Given the description of an element on the screen output the (x, y) to click on. 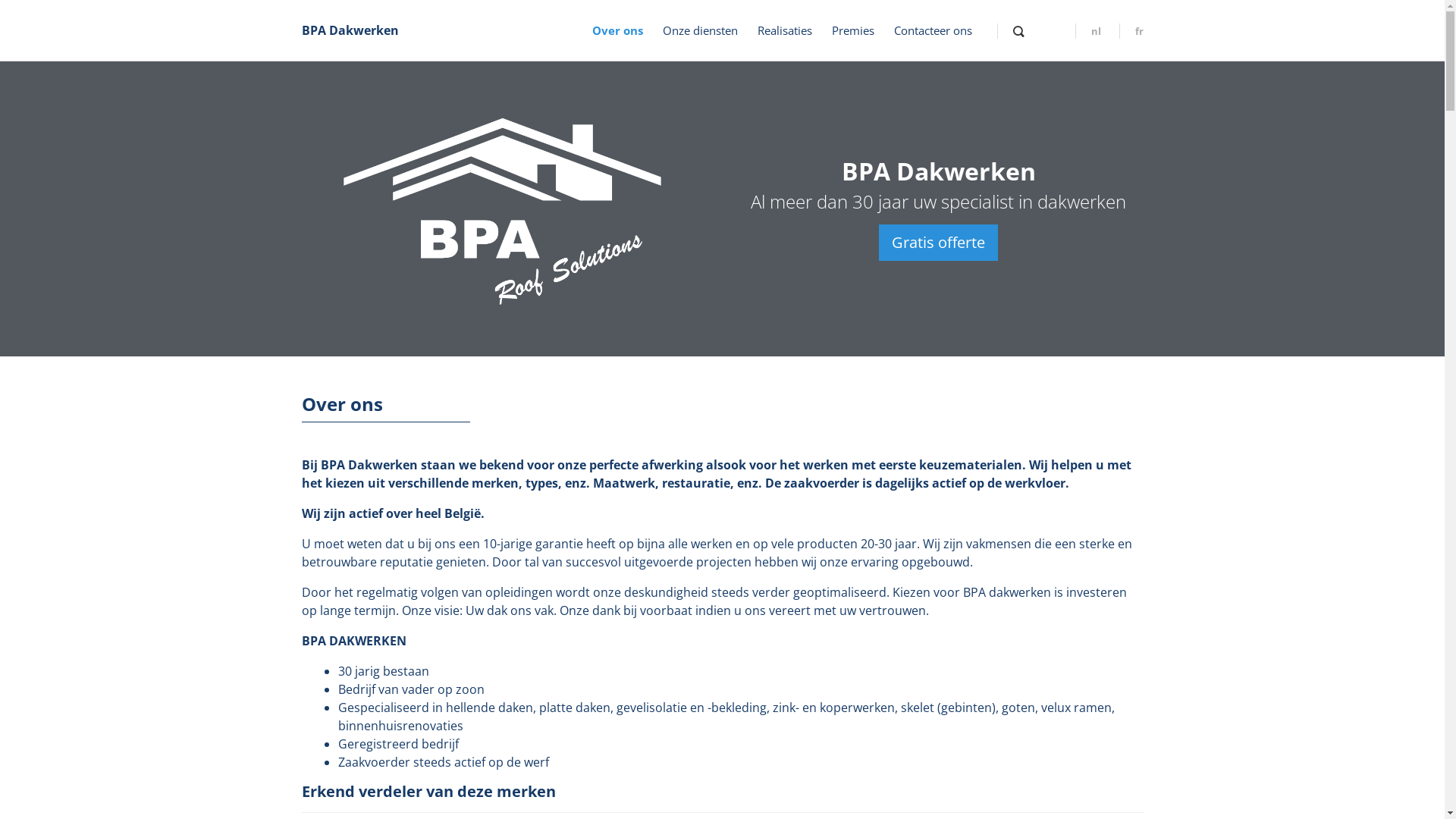
Realisaties Element type: text (783, 30)
Premies Element type: text (852, 30)
Onze diensten Element type: text (699, 30)
BPA Dakwerken Element type: text (349, 30)
nl Element type: text (1088, 30)
Over ons Element type: text (616, 30)
Gratis offerte Element type: text (937, 242)
Contacteer ons Element type: text (932, 30)
fr Element type: text (1131, 30)
